Given the description of an element on the screen output the (x, y) to click on. 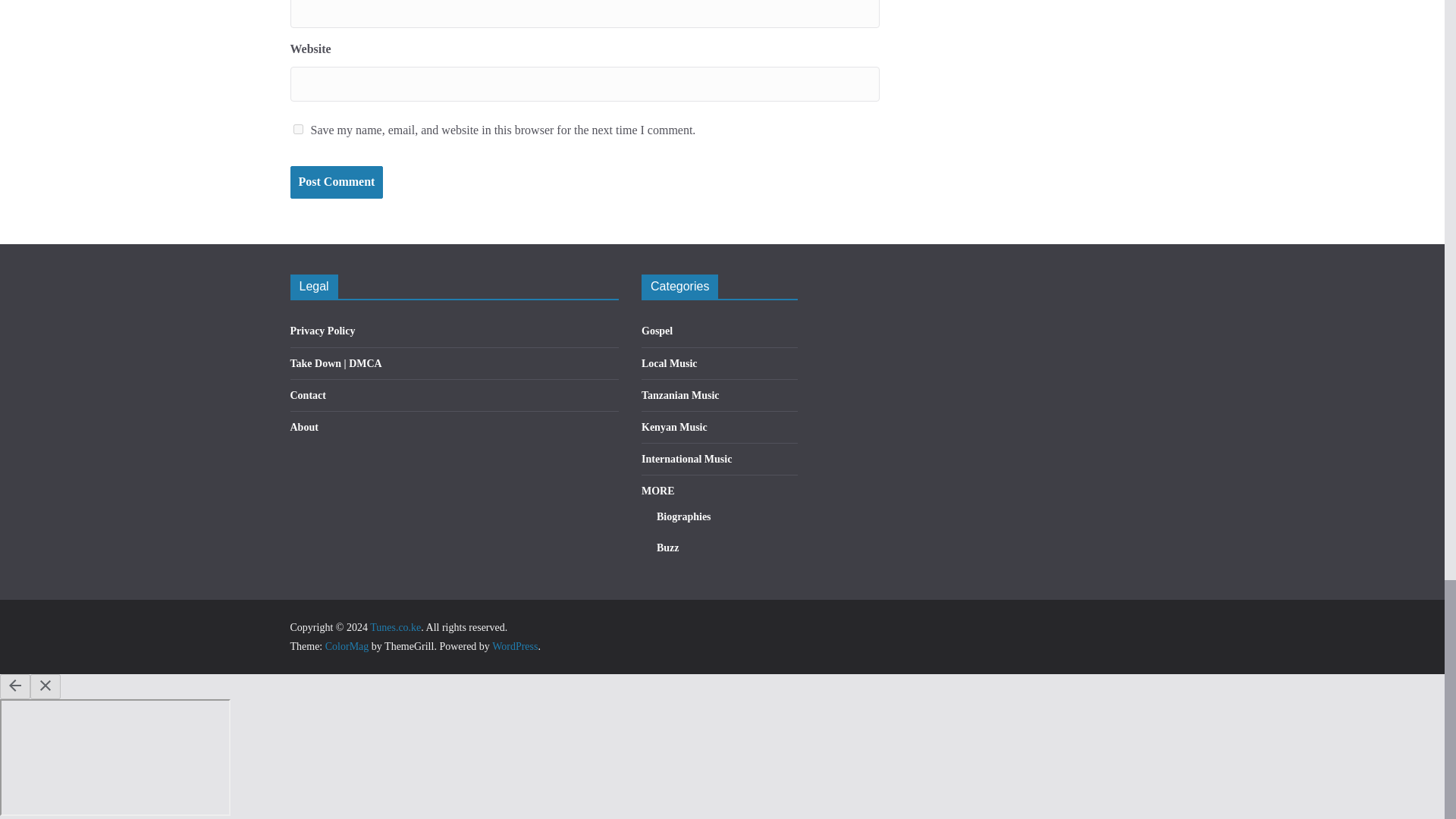
Post Comment (335, 182)
yes (297, 129)
